Given the description of an element on the screen output the (x, y) to click on. 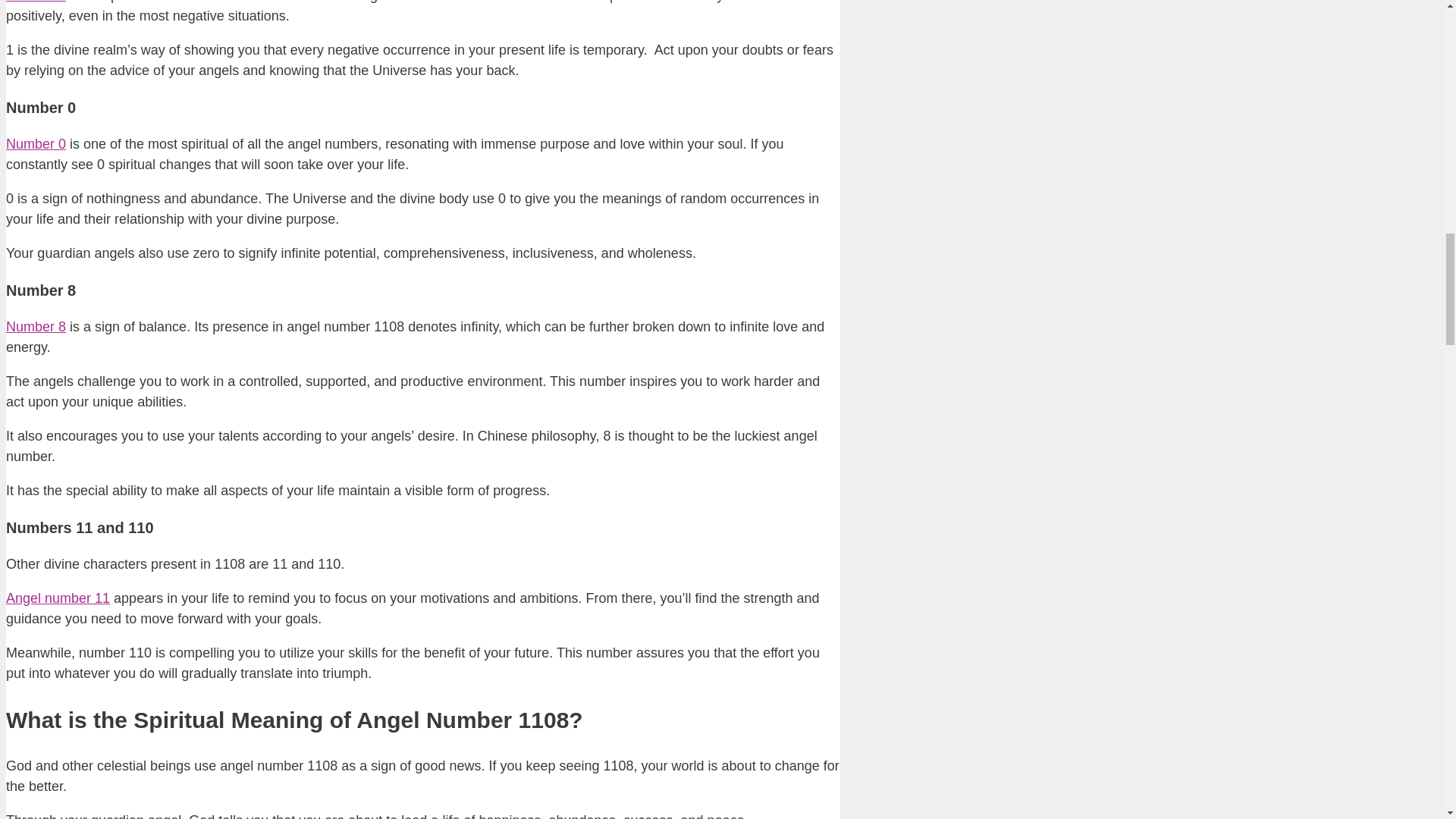
Number 0 (35, 143)
Number 8 (35, 326)
Number 1 (35, 1)
